Given the description of an element on the screen output the (x, y) to click on. 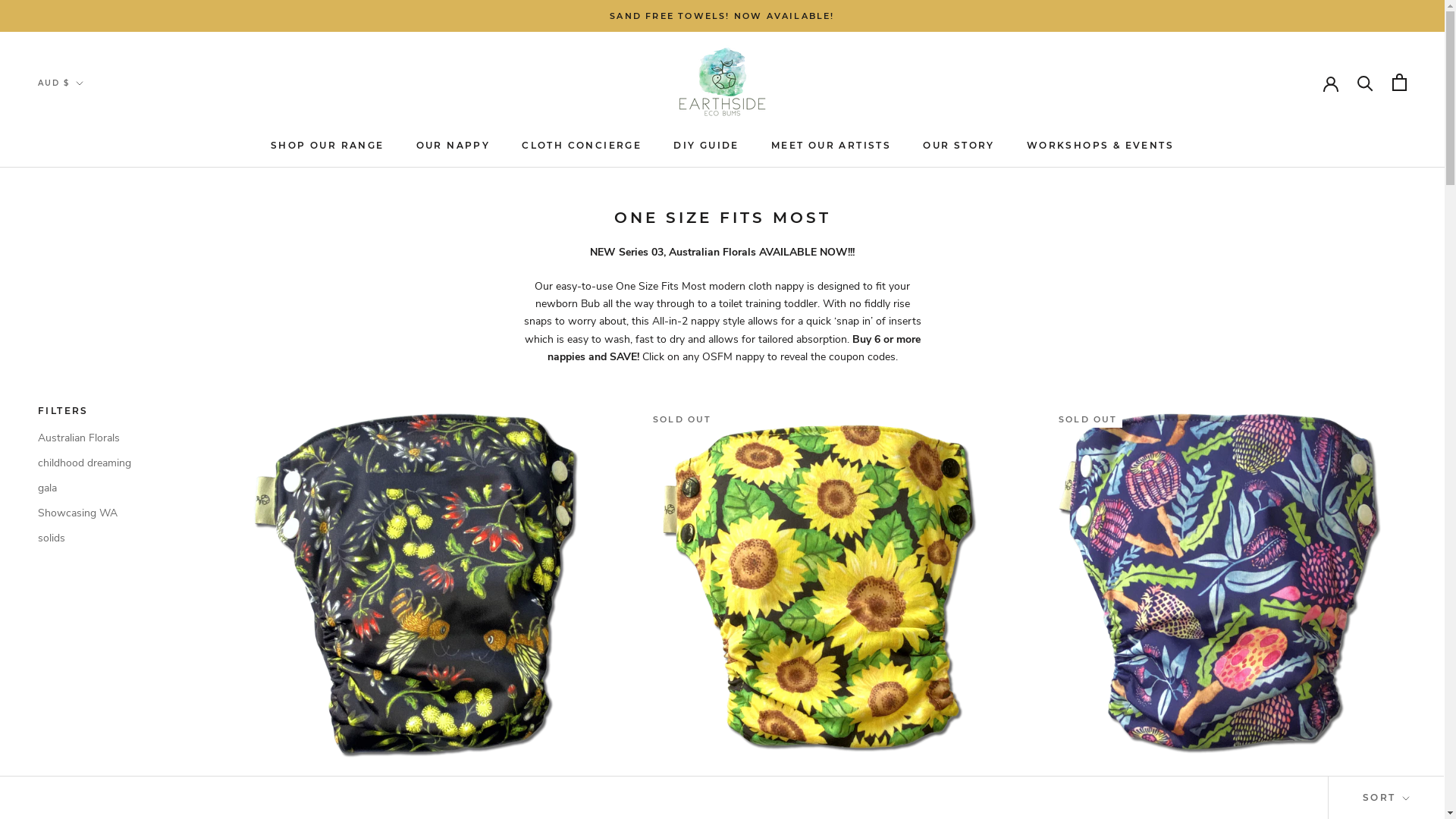
SHOP OUR RANGE
SHOP OUR RANGE Element type: text (327, 144)
CLOTH CONCIERGE
CLOTH CONCIERGE Element type: text (581, 144)
WORKSHOPS & EVENTS Element type: text (1099, 144)
SAND FREE TOWELS! NOW AVAILABLE! Element type: text (721, 15)
EUR Element type: text (78, 135)
MEET OUR ARTISTS
MEET OUR ARTISTS Element type: text (831, 144)
childhood dreaming Element type: text (113, 462)
'SUNNY DAZE' OSFM SIDE SNAPPING CLOTH NAPPY Element type: text (820, 785)
'NATIVE NIGHTS' OSFM SIDE SNAPPING CLOTH NAPPY Element type: text (1225, 785)
USD Element type: text (78, 175)
solids Element type: text (113, 538)
OUR STORY
OUR STORY Element type: text (958, 144)
Showcasing WA Element type: text (113, 512)
Australian Florals Element type: text (113, 437)
AUD Element type: text (78, 114)
'BEE MINE' OSFM SIDE SNAPPING CLOTH NAPPY Element type: text (414, 785)
AUD $ Element type: text (60, 83)
DIY GUIDE
DIY GUIDE Element type: text (706, 144)
OUR NAPPY
OUR NAPPY Element type: text (453, 144)
gala Element type: text (113, 487)
NZD Element type: text (78, 154)
FILTERS Element type: text (113, 410)
